Given the description of an element on the screen output the (x, y) to click on. 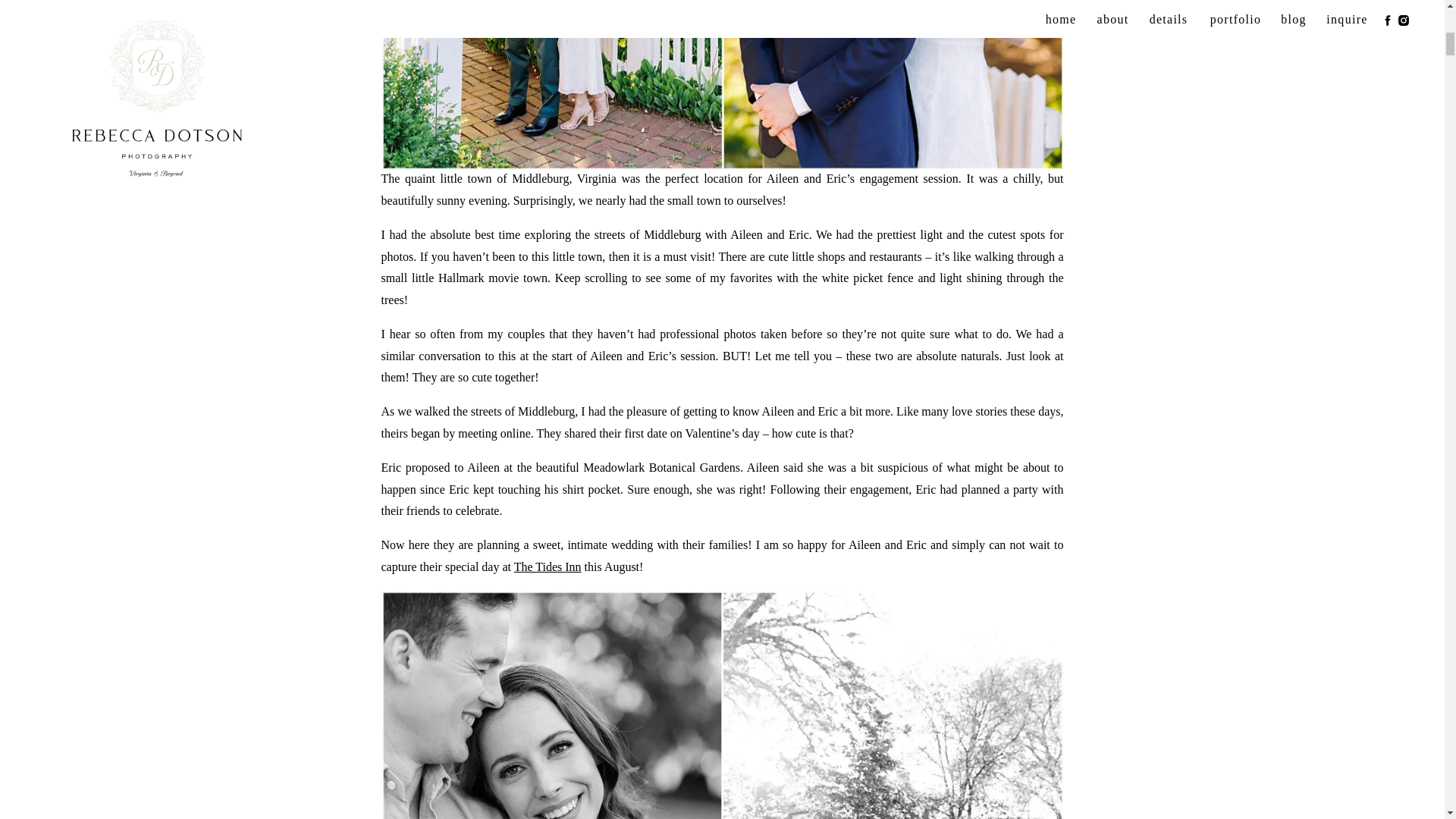
The Tides Inn (546, 566)
